Given the description of an element on the screen output the (x, y) to click on. 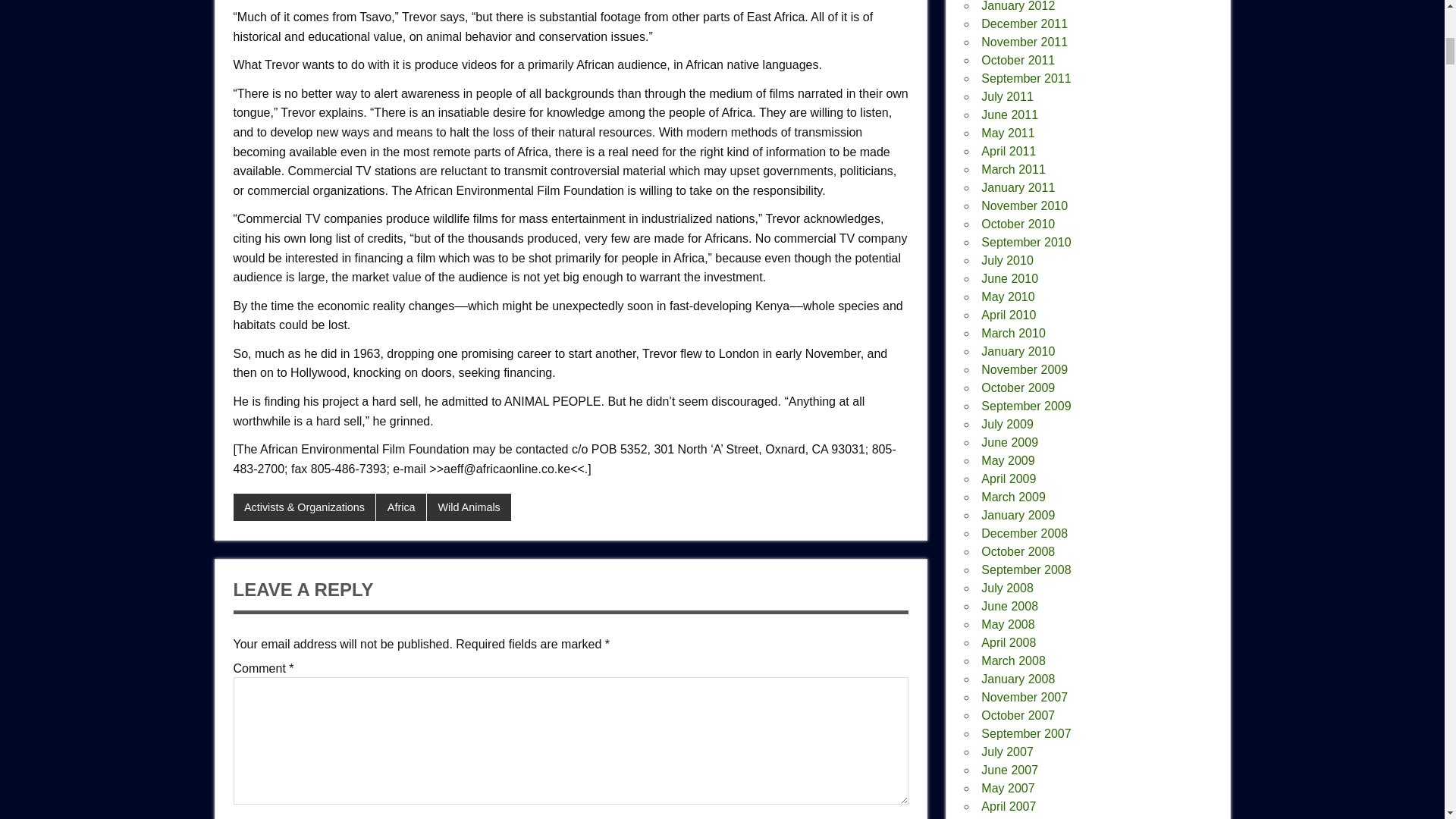
July 2011 (1007, 96)
November 2011 (1024, 42)
Wild Animals (468, 506)
September 2011 (1025, 78)
October 2011 (1017, 60)
Africa (400, 506)
January 2012 (1017, 6)
December 2011 (1024, 23)
